Given the description of an element on the screen output the (x, y) to click on. 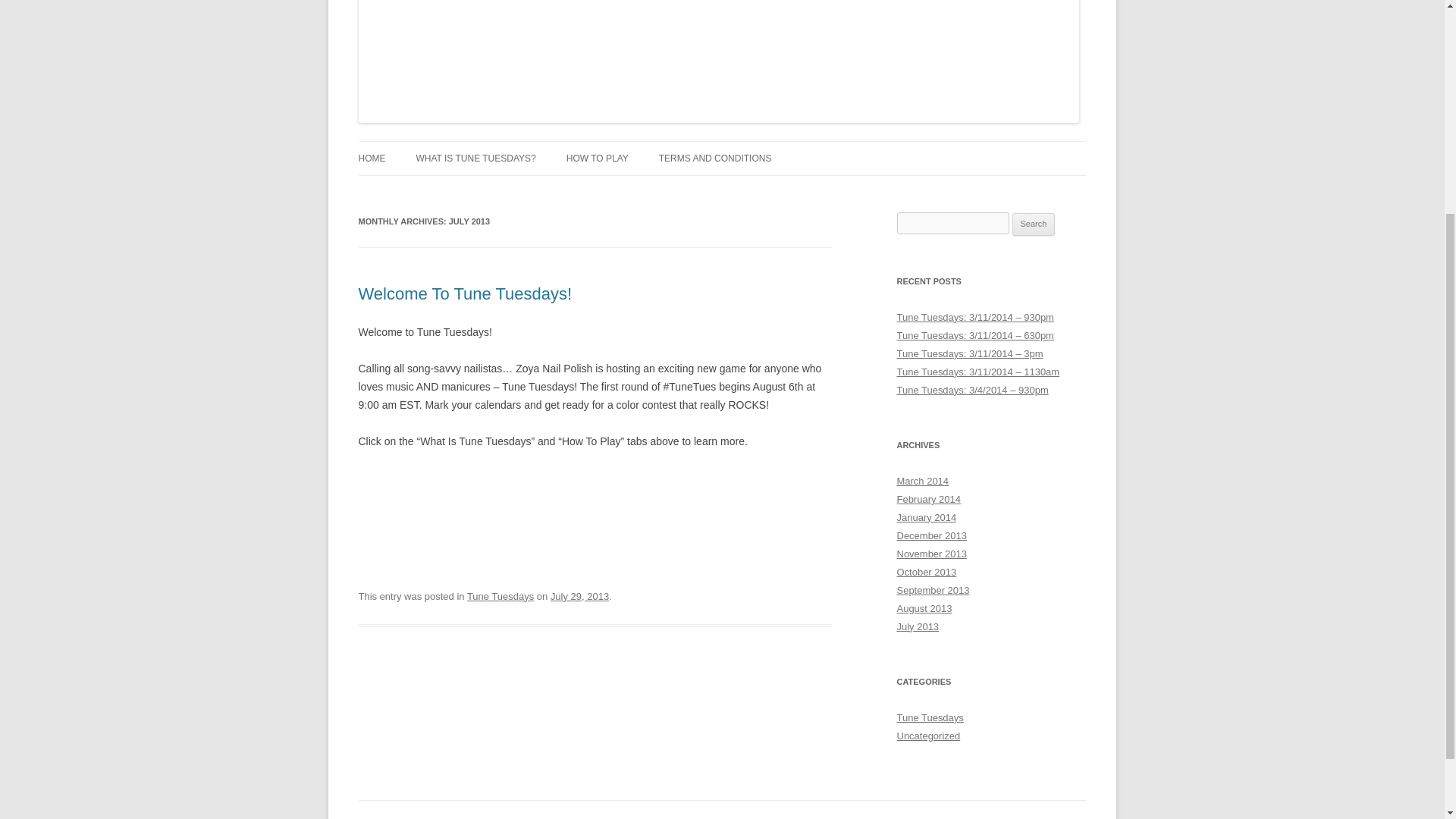
September 2013 (932, 590)
Home (371, 158)
December 2013 (931, 535)
August 2013 (924, 608)
December 2013 (931, 535)
July 29, 2013 (579, 595)
WHAT IS TUNE TUESDAYS? (474, 158)
TERMS AND CONDITIONS (715, 158)
Permalink to Welcome To Tune Tuesdays! (465, 293)
Search (1033, 223)
January 2014 (926, 517)
March 2014 (922, 480)
November 2013 (931, 553)
HOW TO PLAY (597, 158)
Search (1033, 223)
